Given the description of an element on the screen output the (x, y) to click on. 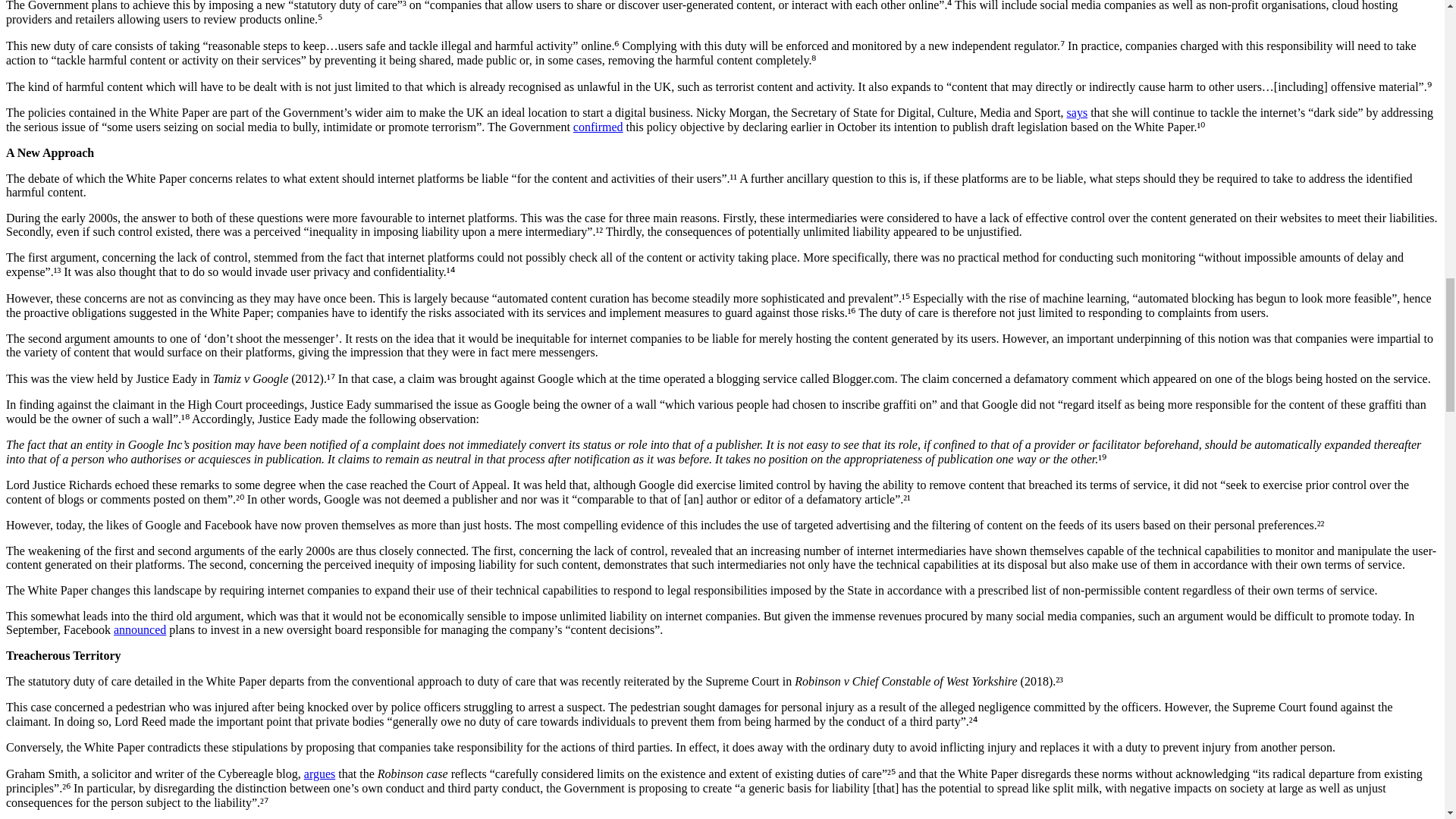
argues (319, 773)
says (1077, 112)
confirmed (598, 126)
announced (139, 629)
